Given the description of an element on the screen output the (x, y) to click on. 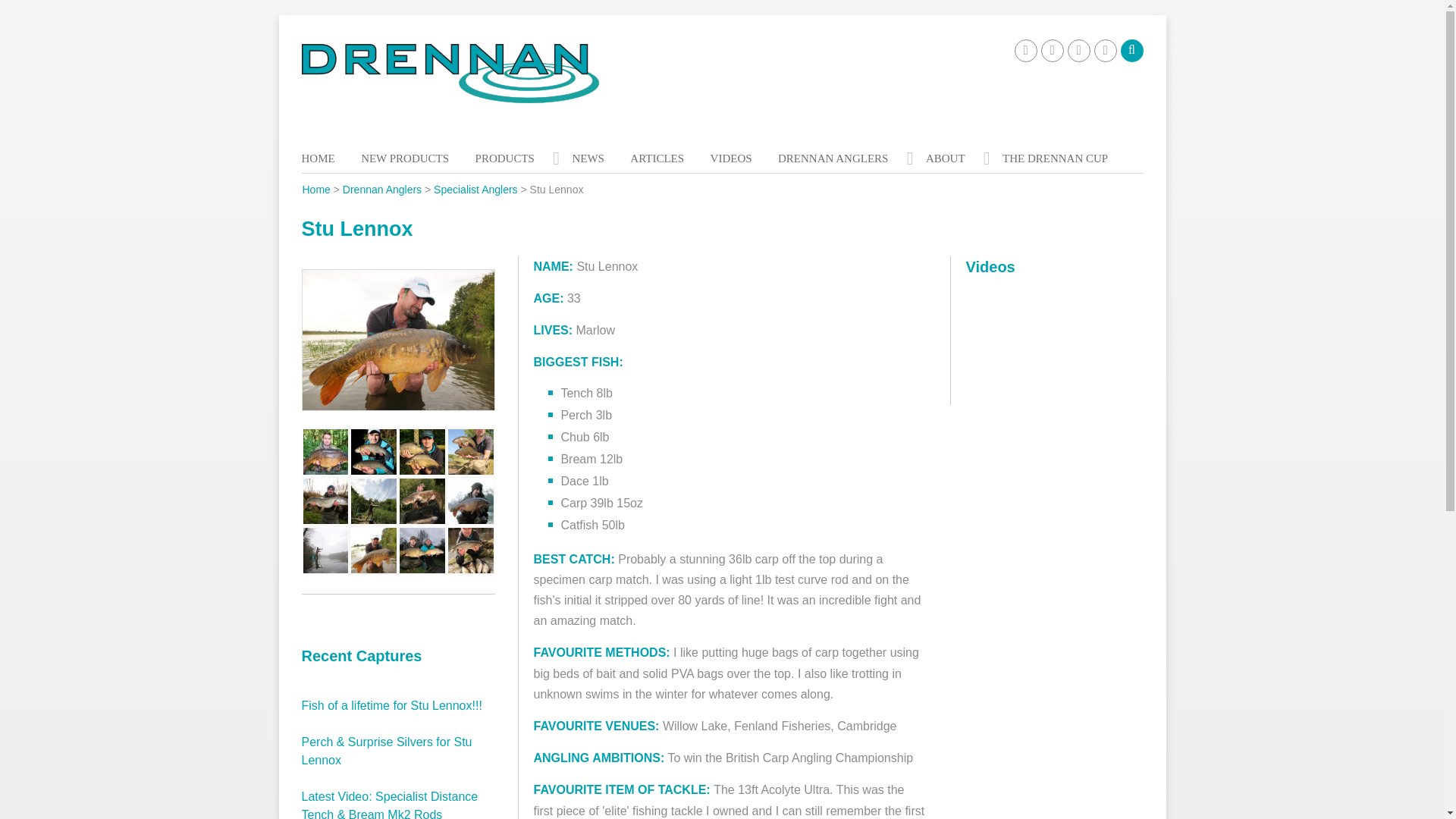
Stu Lennox (470, 451)
Stu Lennox (325, 549)
Facebook (1025, 50)
Youtube (1078, 50)
Stu Lennox (325, 451)
Stu Lennox (421, 500)
Stu Lennox (373, 451)
Twitter (1051, 50)
Stu Lennox (373, 549)
Stu Lennox (325, 500)
Instagram (1104, 50)
Stu Lennox (373, 500)
Stu Lennox (421, 549)
Stu Lennox (470, 500)
Stu Lennox (421, 451)
